Given the description of an element on the screen output the (x, y) to click on. 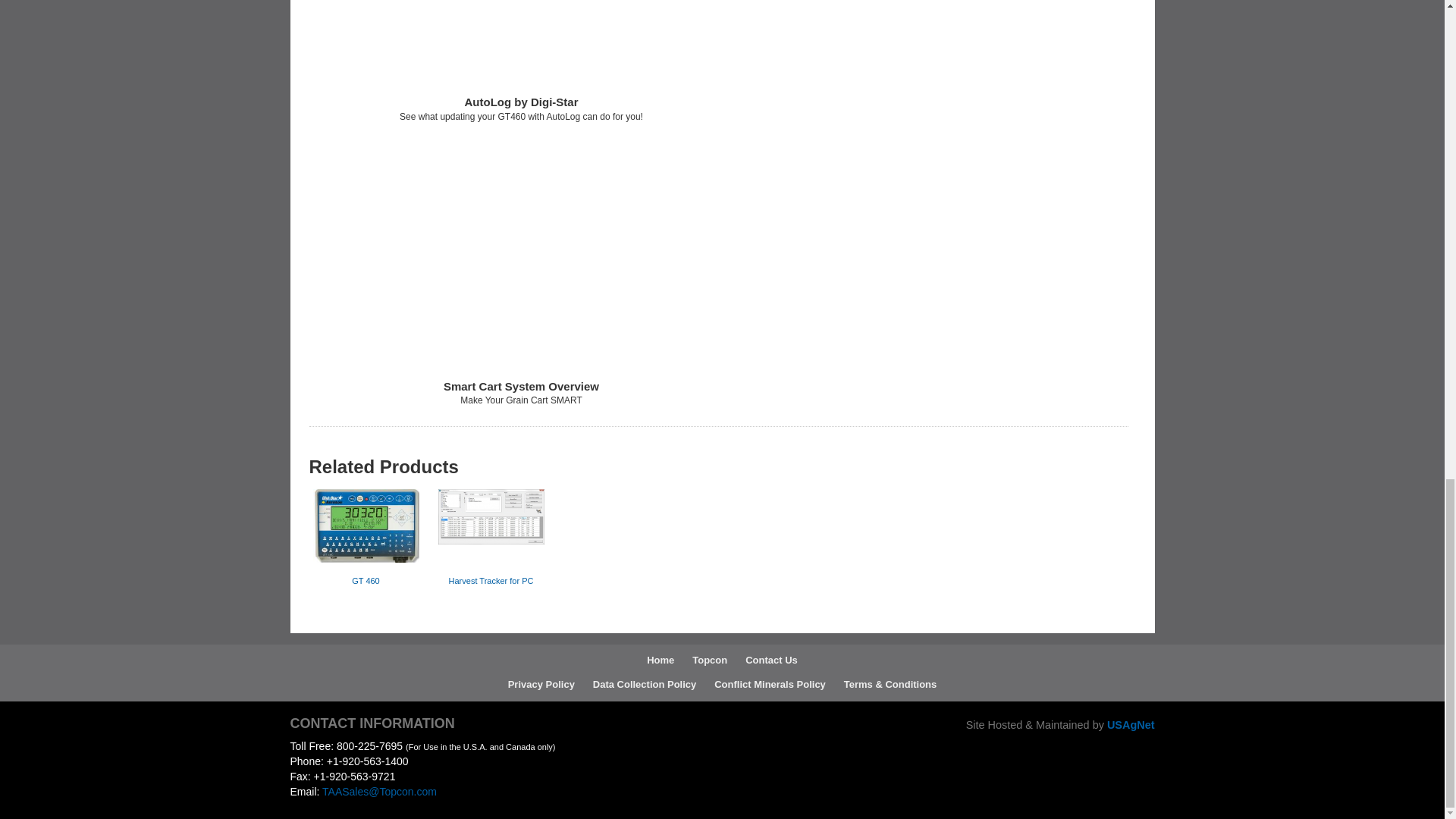
YouTube video player (520, 254)
GT 460 (366, 536)
Harvest Tracker for PC (491, 536)
Home (660, 660)
